Given the description of an element on the screen output the (x, y) to click on. 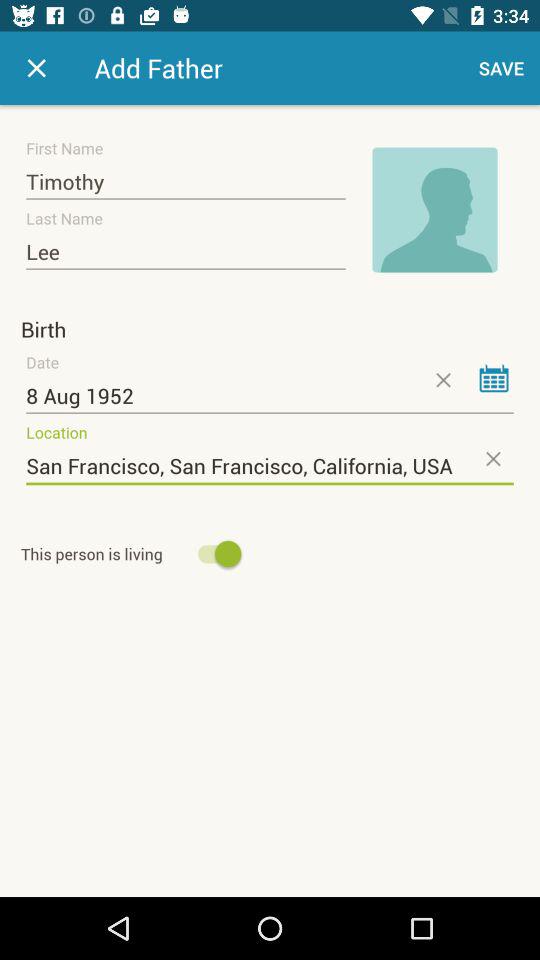
close contact information (36, 68)
